Given the description of an element on the screen output the (x, y) to click on. 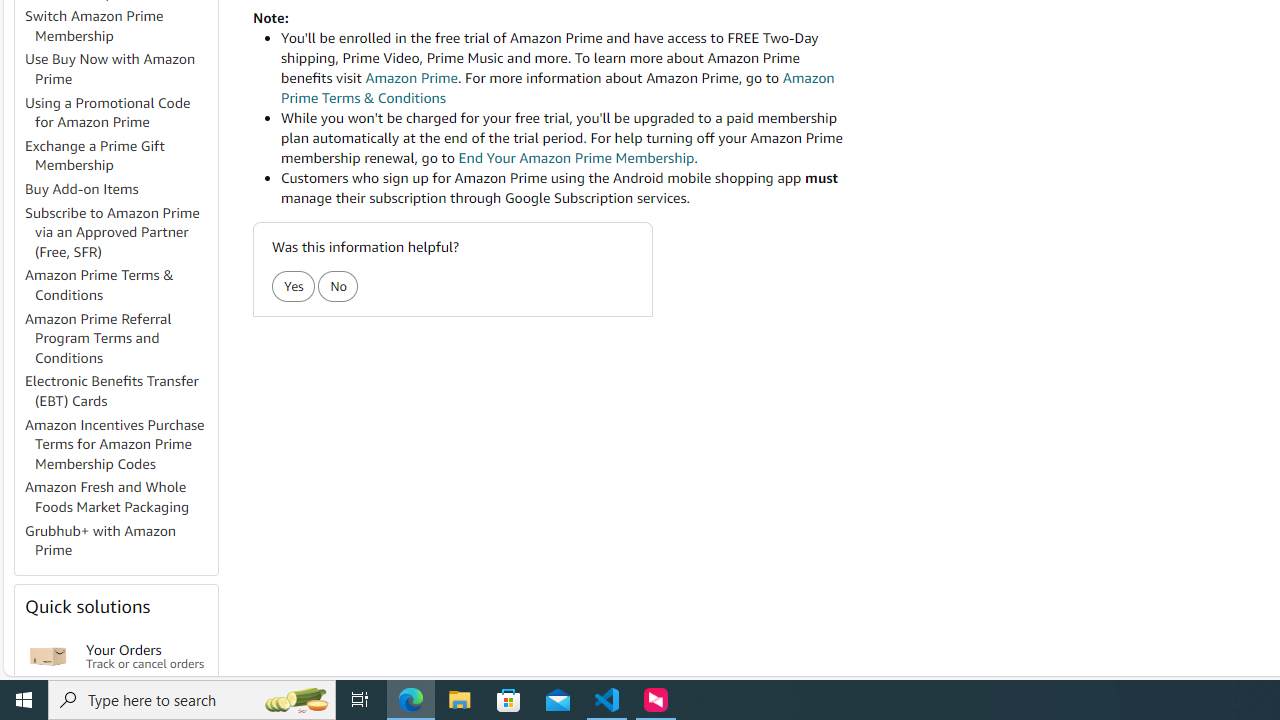
Exchange a Prime Gift Membership (120, 156)
Your Orders Track or cancel orders (145, 656)
Yes (292, 286)
Electronic Benefits Transfer (EBT) Cards (111, 390)
Amazon Prime Referral Program Terms and Conditions (120, 338)
Your Orders (48, 655)
Use Buy Now with Amazon Prime (110, 69)
Switch Amazon Prime Membership (120, 26)
Using a Promotional Code for Amazon Prime (107, 111)
Grubhub+ with Amazon Prime (120, 540)
